Given the description of an element on the screen output the (x, y) to click on. 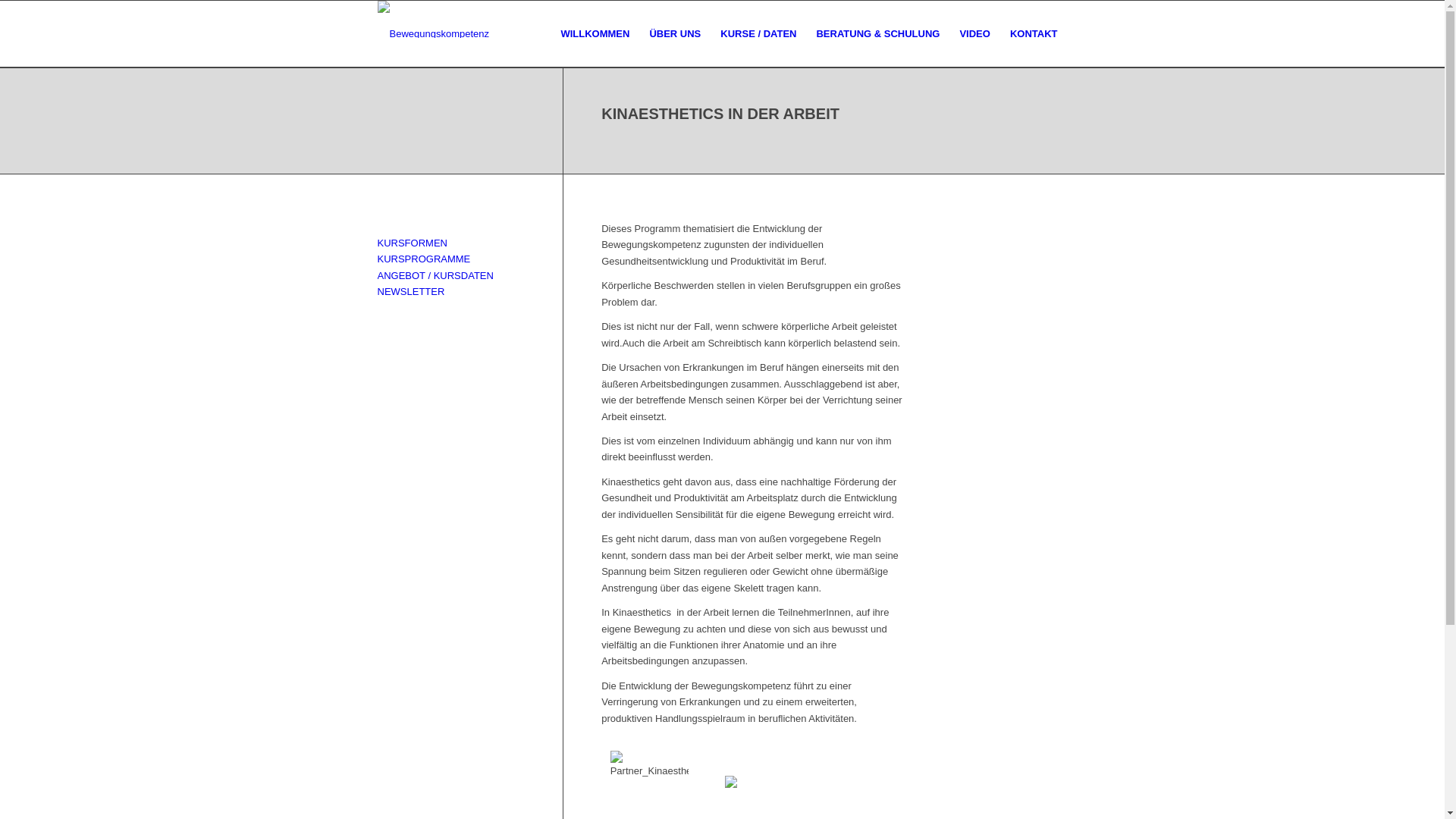
KONTAKT Element type: text (1033, 33)
KURSE / DATEN Element type: text (758, 33)
NEWSLETTER Element type: text (411, 291)
BERATUNG & SCHULUNG Element type: text (877, 33)
KURSFORMEN Element type: text (412, 242)
ANGEBOT / KURSDATEN Element type: text (435, 275)
WILLKOMMEN Element type: text (594, 33)
KURSPROGRAMME Element type: text (423, 258)
VIDEO Element type: text (974, 33)
